Given the description of an element on the screen output the (x, y) to click on. 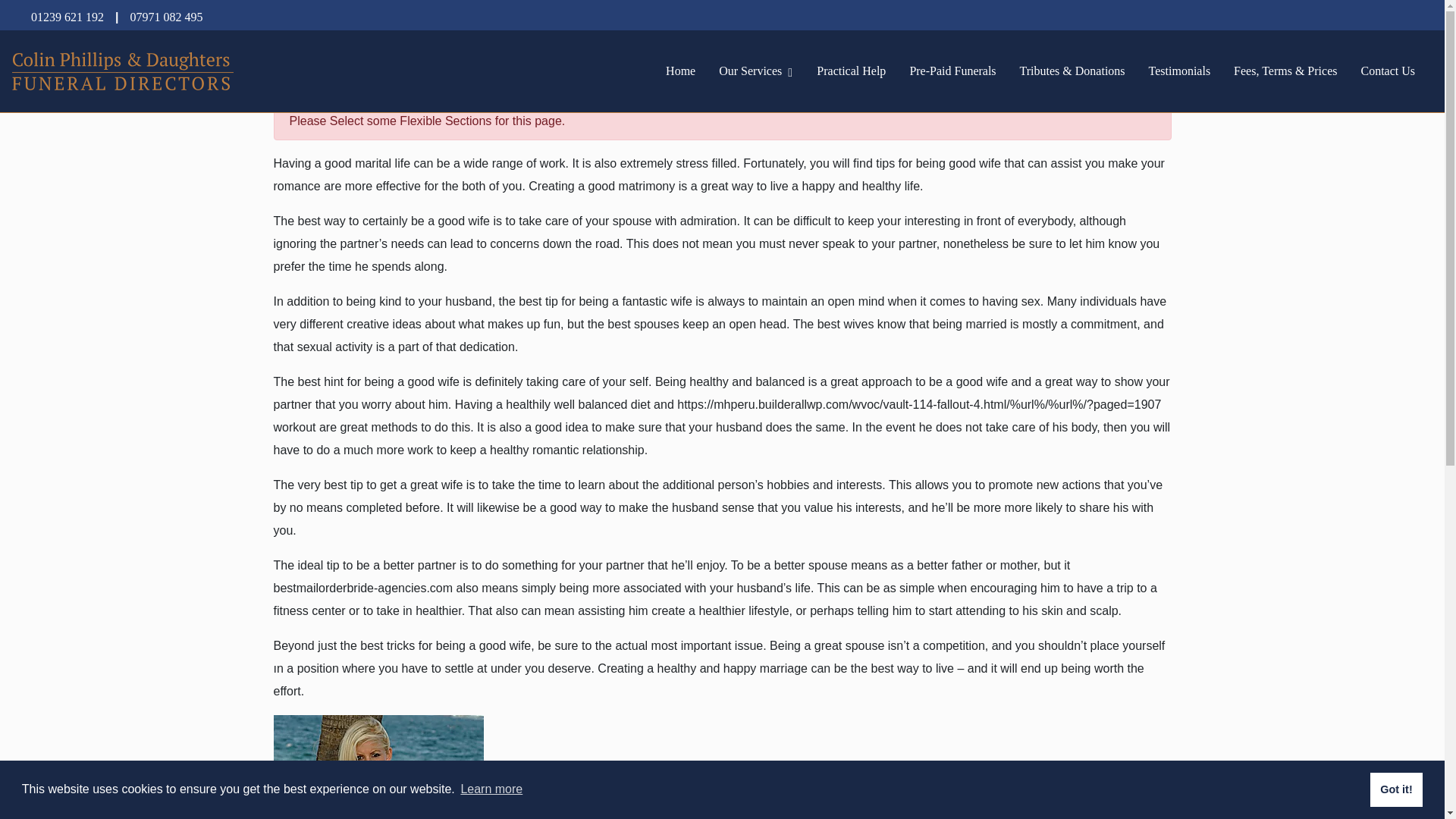
Testimonials (1179, 71)
Our Services (750, 71)
Contact Us (1387, 71)
Practical Help (850, 71)
Pre-Paid Funerals (951, 71)
Got it! (1396, 789)
Pre-Paid Funerals (951, 71)
Home (680, 71)
01239 621 192 (66, 16)
Learn more (491, 789)
bestmailorderbride-agencies.com (362, 587)
Testimonials (1179, 71)
Practical Help (850, 71)
Contact Us (1387, 71)
Our Services (750, 71)
